Given the description of an element on the screen output the (x, y) to click on. 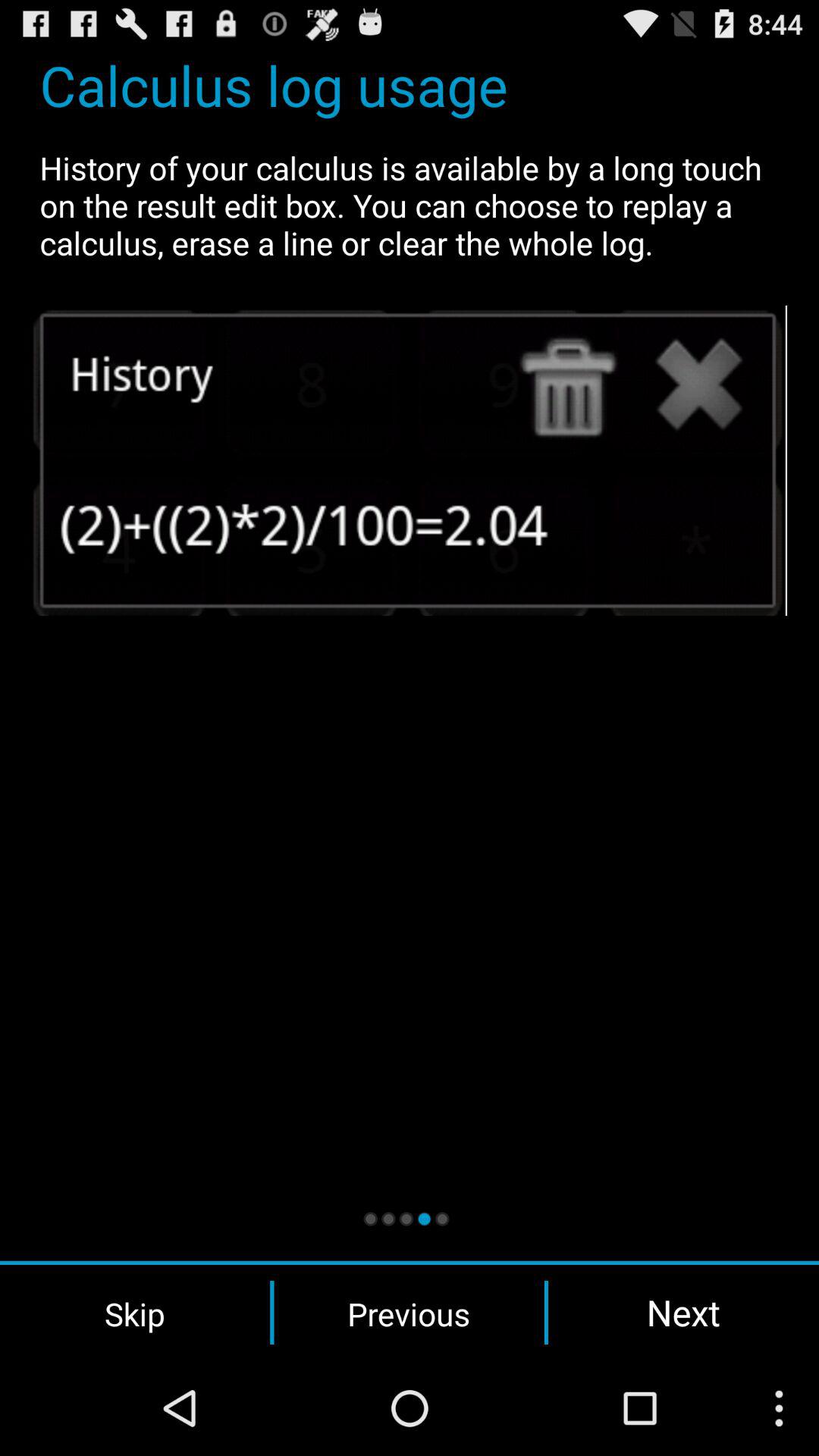
turn on the skip icon (135, 1313)
